Given the description of an element on the screen output the (x, y) to click on. 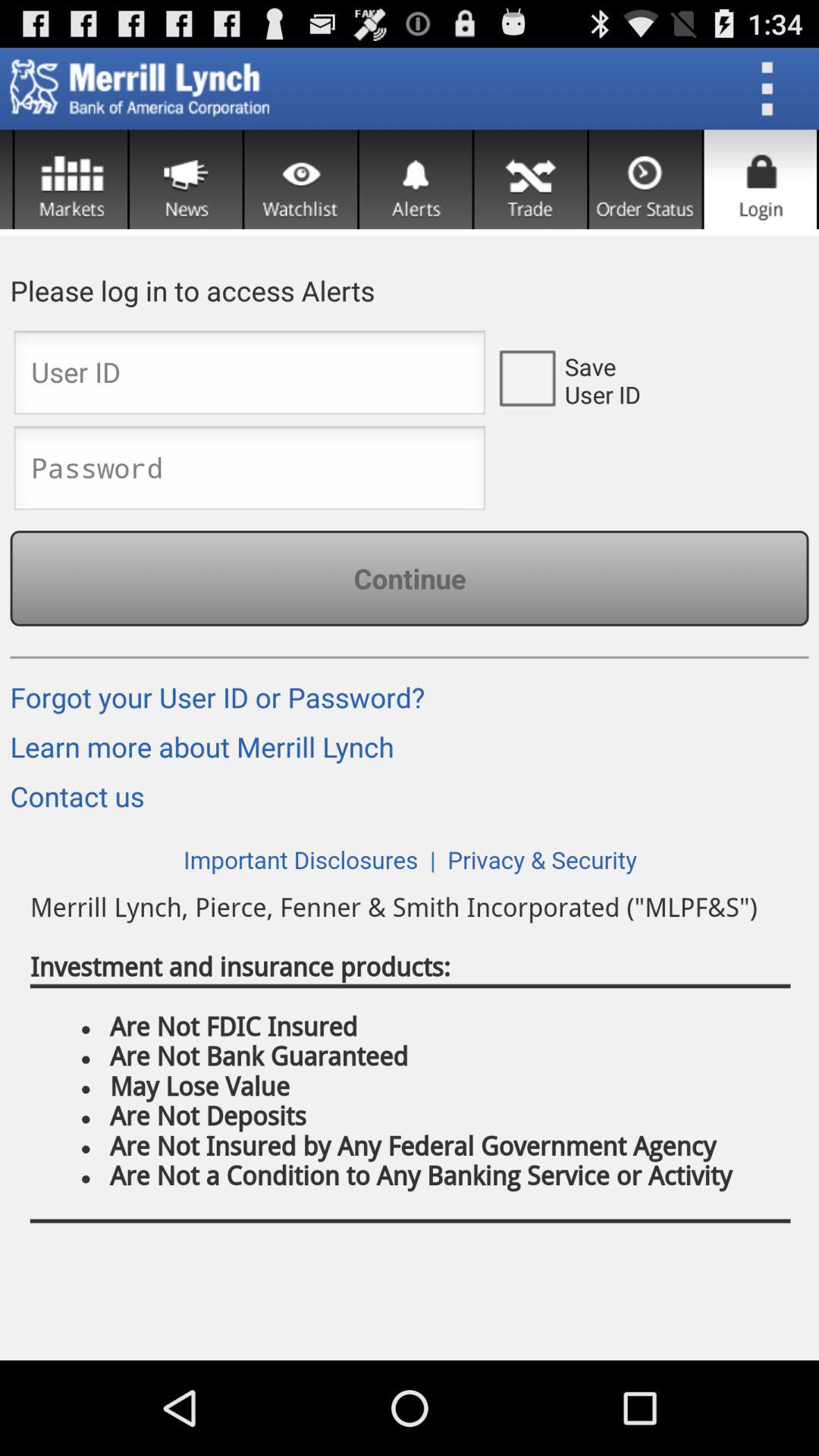
view alerts (415, 179)
